Given the description of an element on the screen output the (x, y) to click on. 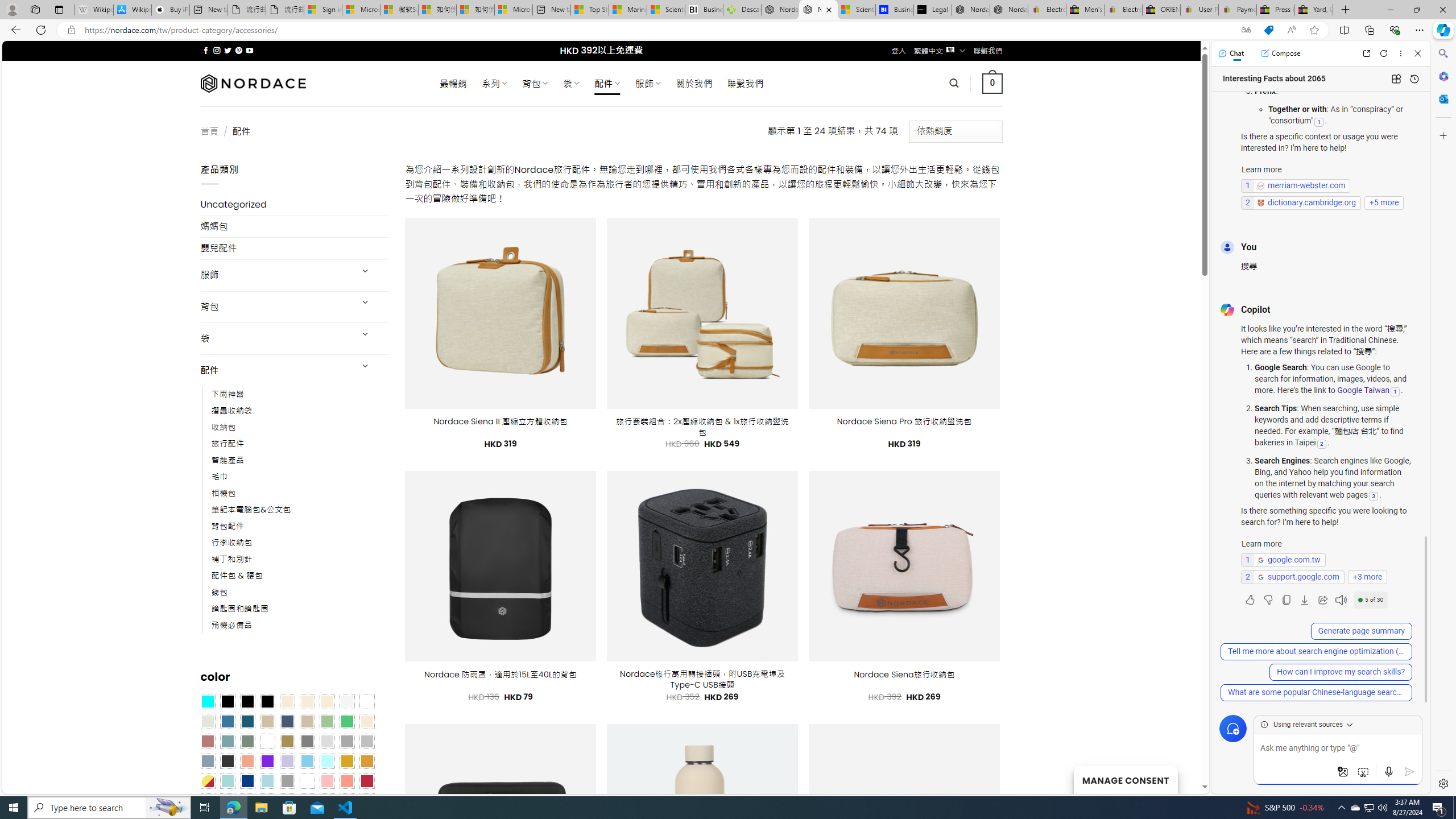
Follow on Pinterest (237, 50)
Follow on YouTube (249, 50)
